Given the description of an element on the screen output the (x, y) to click on. 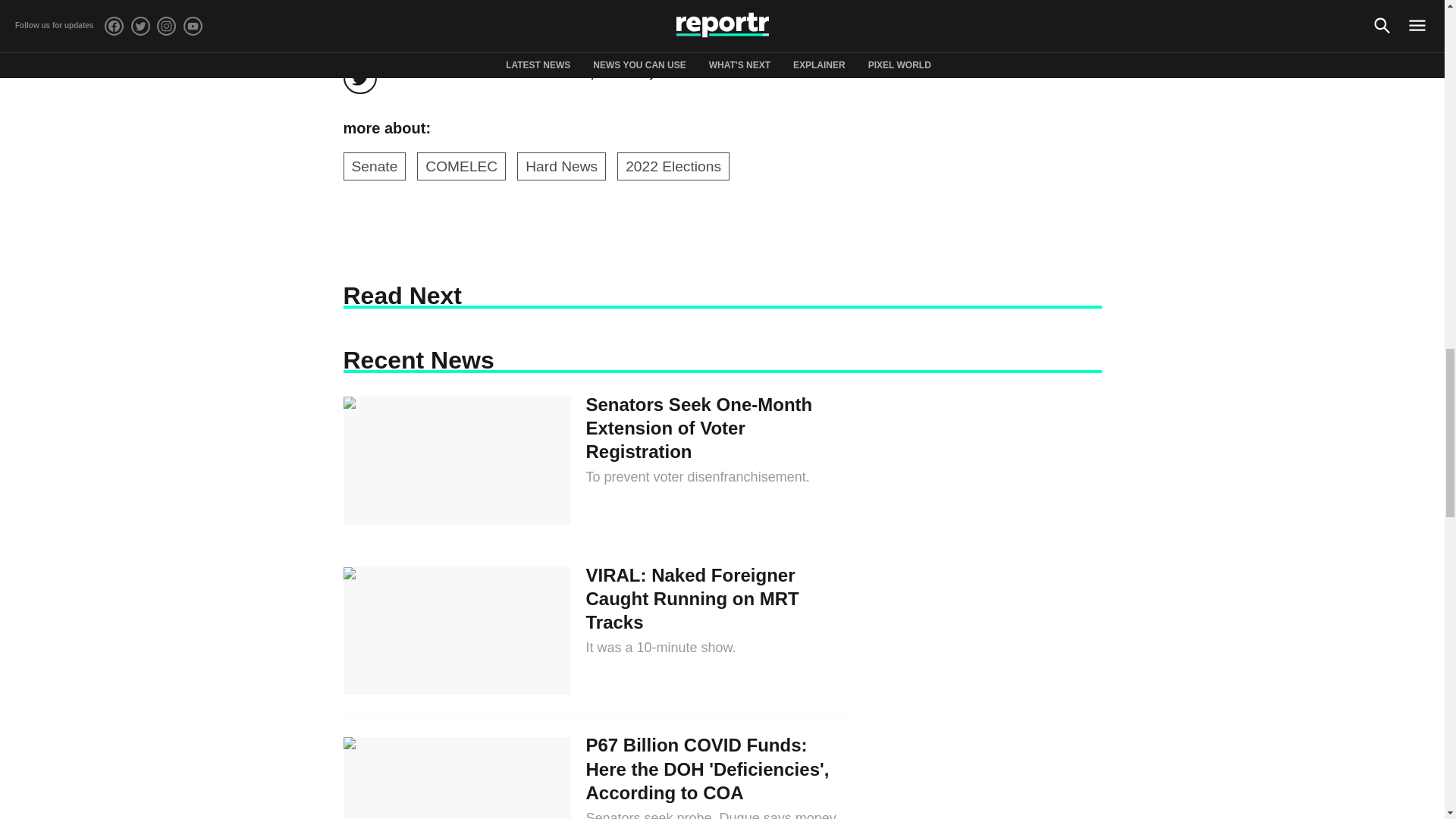
Hard News (560, 166)
COMELEC (460, 166)
Download the app (609, 53)
Senate (374, 166)
Quento website (782, 53)
2022 Elections (673, 166)
